Given the description of an element on the screen output the (x, y) to click on. 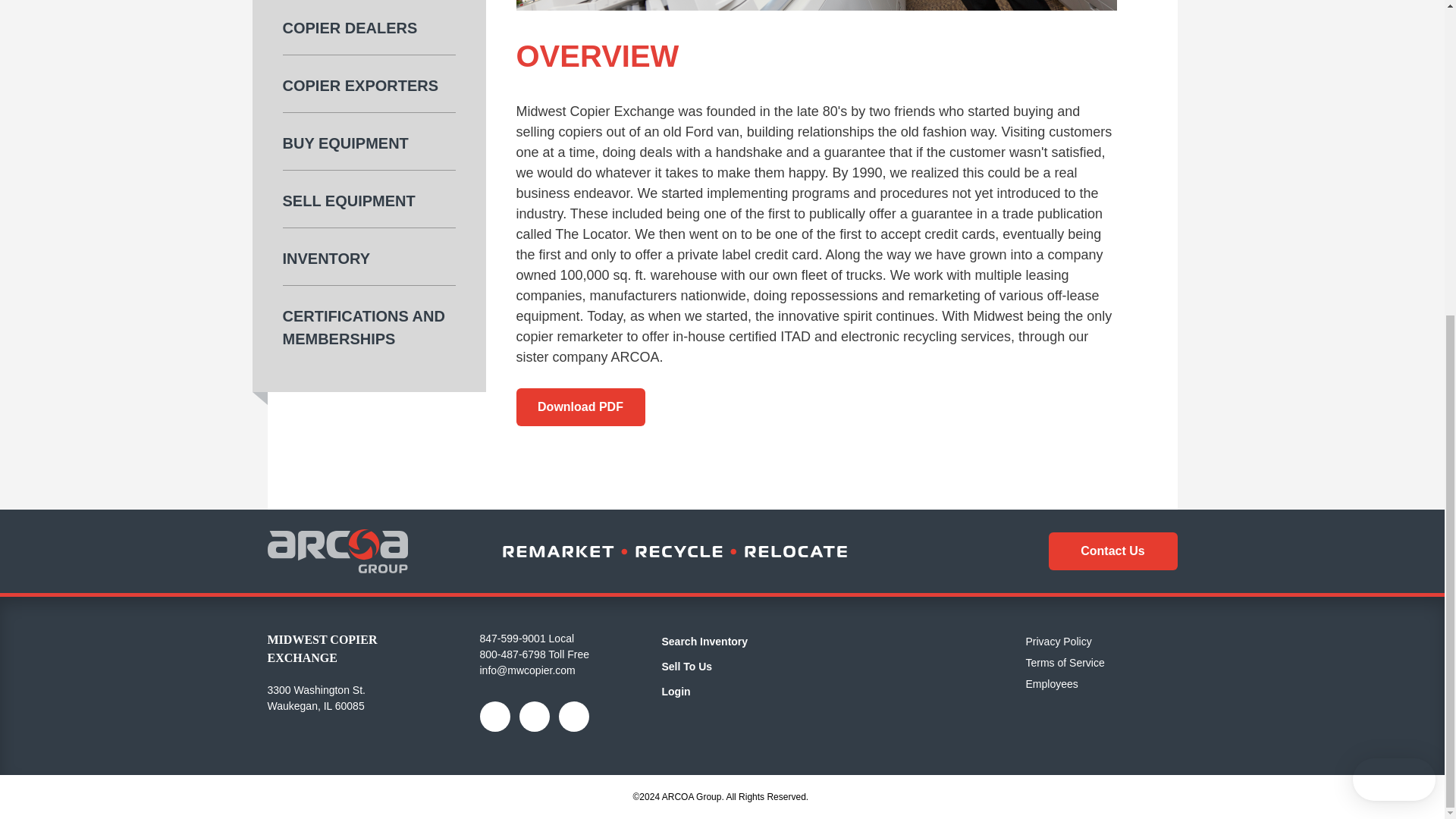
Sell To Us (686, 666)
847-599-9001 (511, 638)
COPIER DEALERS (368, 35)
COPIER EXPORTERS (368, 93)
Login (675, 691)
Search Inventory (704, 641)
800-487-6798 (511, 654)
Privacy Policy (1057, 641)
Smartsupp widget button (1393, 272)
Employees (1051, 684)
Download PDF (580, 406)
Terms of Service (1064, 662)
BUY EQUIPMENT (368, 150)
SELL EQUIPMENT (368, 208)
CERTIFICATIONS AND MEMBERSHIPS (368, 346)
